Given the description of an element on the screen output the (x, y) to click on. 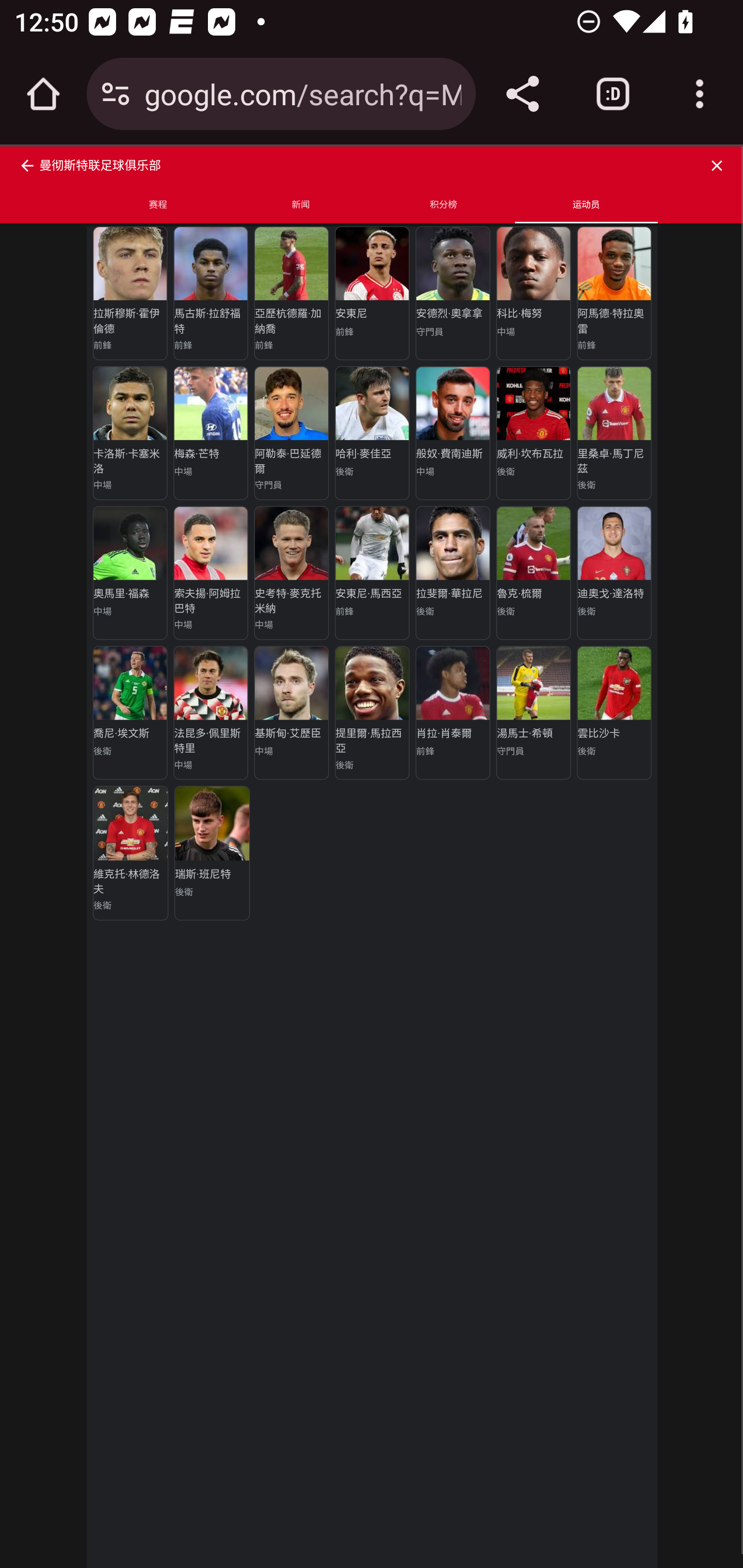
Open the home page (43, 93)
Connection is secure (115, 93)
Share (522, 93)
Switch or close tabs (612, 93)
Customize and control Google Chrome (699, 93)
返回 (23, 165)
关闭 (720, 165)
赛程 (157, 205)
新闻 (300, 205)
积分榜 (443, 205)
运动员 (585, 205)
拉斯穆斯·霍伊倫德 前鋒 拉斯穆斯·霍伊倫德 前鋒 (129, 292)
馬古斯·拉舒福特 前鋒 馬古斯·拉舒福特 前鋒 (210, 292)
亞歷杭德羅·加納喬 前鋒 亞歷杭德羅·加納喬 前鋒 (291, 292)
安東尼 前鋒 安東尼 前鋒 (371, 292)
安德烈·奧拿拿 守門員 安德烈·奧拿拿 守門員 (452, 292)
科比·梅努 中場 科比·梅努 中場 (533, 292)
阿馬德·特拉奧雷 前鋒 阿馬德·特拉奧雷 前鋒 (613, 292)
卡洛斯·卡塞米洛 中場 卡洛斯·卡塞米洛 中場 (129, 432)
梅森·芒特 中場 梅森·芒特 中場 (210, 432)
阿勒泰·巴延德爾 守門員 阿勒泰·巴延德爾 守門員 (291, 432)
哈利·麥佳亞 後衛 哈利·麥佳亞 後衛 (371, 432)
般奴·費南迪斯 中場 般奴·費南迪斯 中場 (452, 432)
威利·坎布瓦拉 後衛 威利·坎布瓦拉 後衛 (533, 432)
里桑卓·馬丁尼茲 後衛 里桑卓·馬丁尼茲 後衛 (613, 432)
奧馬里·福森 中場 奧馬里·福森 中場 (129, 572)
索夫揚·阿姆拉巴特 中場 索夫揚·阿姆拉巴特 中場 (210, 572)
史考特·麥克托米納 中場 史考特·麥克托米納 中場 (291, 572)
安東尼·馬西亞 前鋒 安東尼·馬西亞 前鋒 (371, 572)
拉斐爾·華拉尼 後衛 拉斐爾·華拉尼 後衛 (452, 572)
魯克·梳爾 後衛 魯克·梳爾 後衛 (533, 572)
迪奧戈·達洛特 後衛 迪奧戈·達洛特 後衛 (613, 572)
喬尼·埃文斯 後衛 喬尼·埃文斯 後衛 (129, 712)
法昆多·佩里斯特里 中場 法昆多·佩里斯特里 中場 (210, 712)
基斯甸·艾歷臣 中場 基斯甸·艾歷臣 中場 (291, 712)
提里爾·馬拉西亞 後衛 提里爾·馬拉西亞 後衛 (371, 712)
肖拉·肖泰爾 前鋒 肖拉·肖泰爾 前鋒 (452, 712)
湯馬士·希頓 守門員 湯馬士·希頓 守門員 (533, 712)
雲比沙卡 後衛 雲比沙卡 後衛 (613, 712)
維克托·林德洛夫 後衛 維克托·林德洛夫 後衛 (129, 852)
瑞斯·班尼特 後衛 瑞斯·班尼特 後衛 (211, 852)
